Given the description of an element on the screen output the (x, y) to click on. 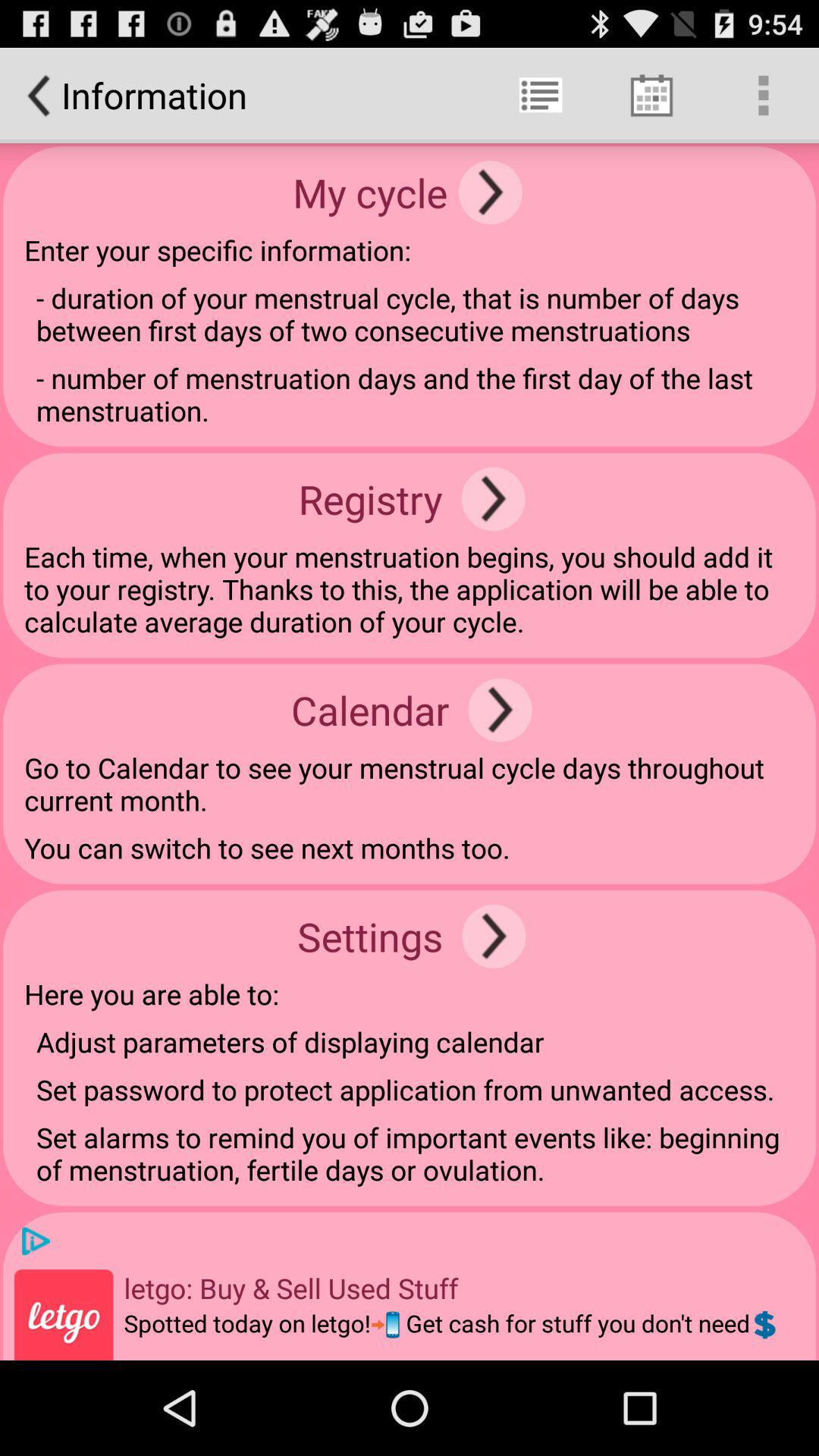
go to my cycle (490, 192)
